Given the description of an element on the screen output the (x, y) to click on. 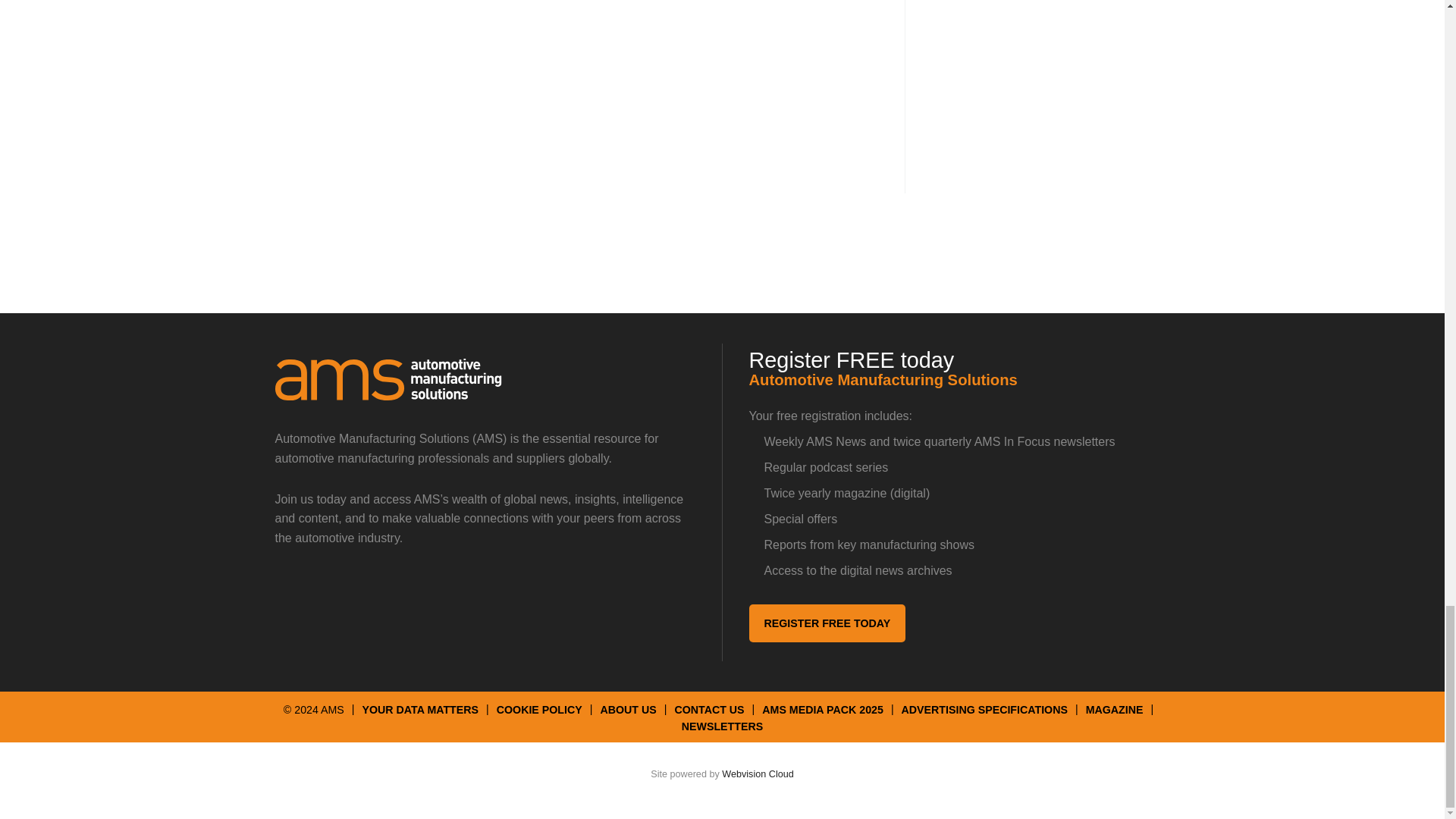
Connect with us on Twitter (294, 594)
Connect with us on Linked In (346, 594)
Connect with us on Facebook (399, 594)
